Given the description of an element on the screen output the (x, y) to click on. 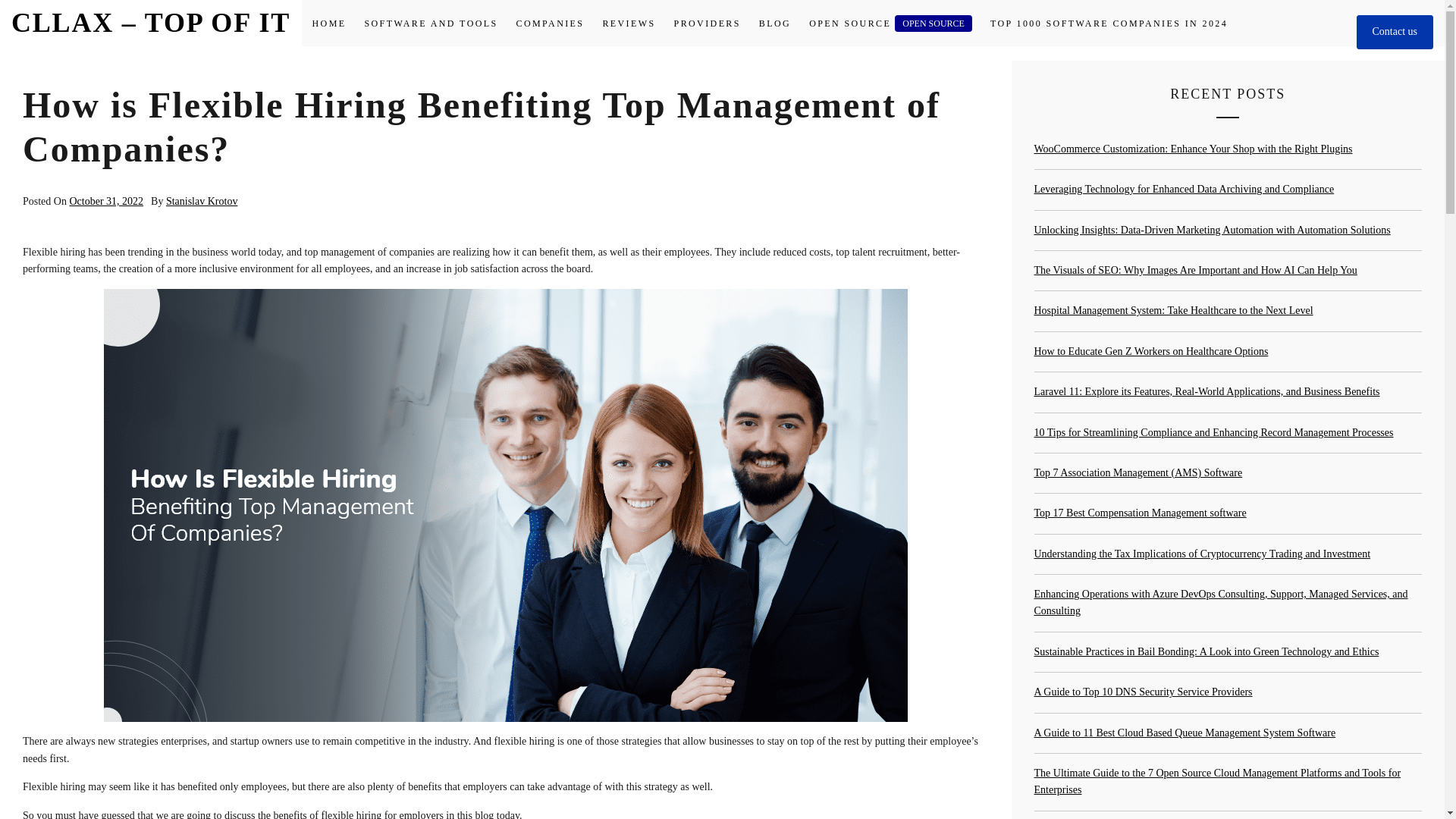
OPEN SOURCEOPEN SOURCE (890, 23)
BLOG (774, 23)
Search (797, 407)
PROVIDERS (707, 23)
TOP 1000 SOFTWARE COMPANIES IN 2024 (1108, 23)
How to Educate Gen Z Workers on Healthcare Options (1150, 351)
HOME (328, 23)
Stanislav Krotov (201, 201)
REVIEWS (627, 23)
COMPANIES (550, 23)
